Given the description of an element on the screen output the (x, y) to click on. 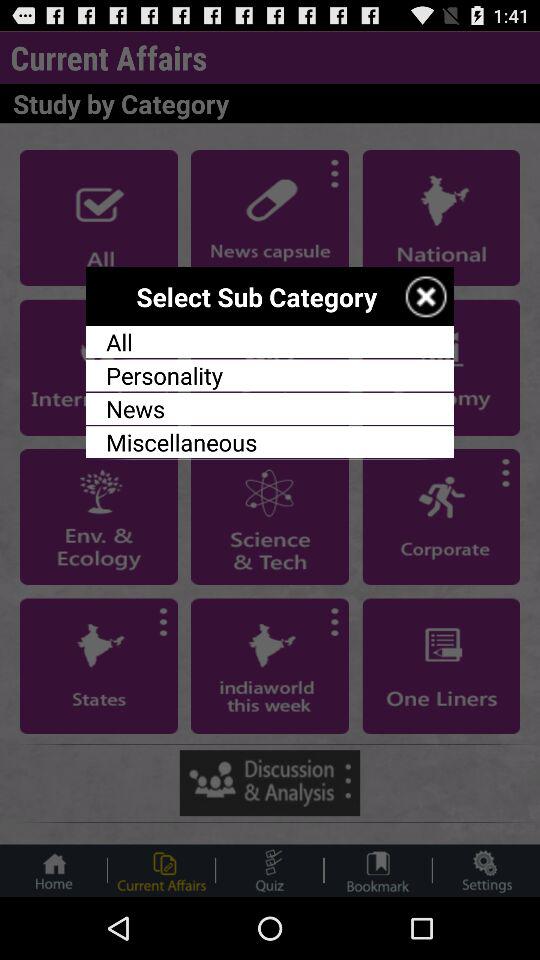
flip until miscellaneous icon (269, 442)
